Given the description of an element on the screen output the (x, y) to click on. 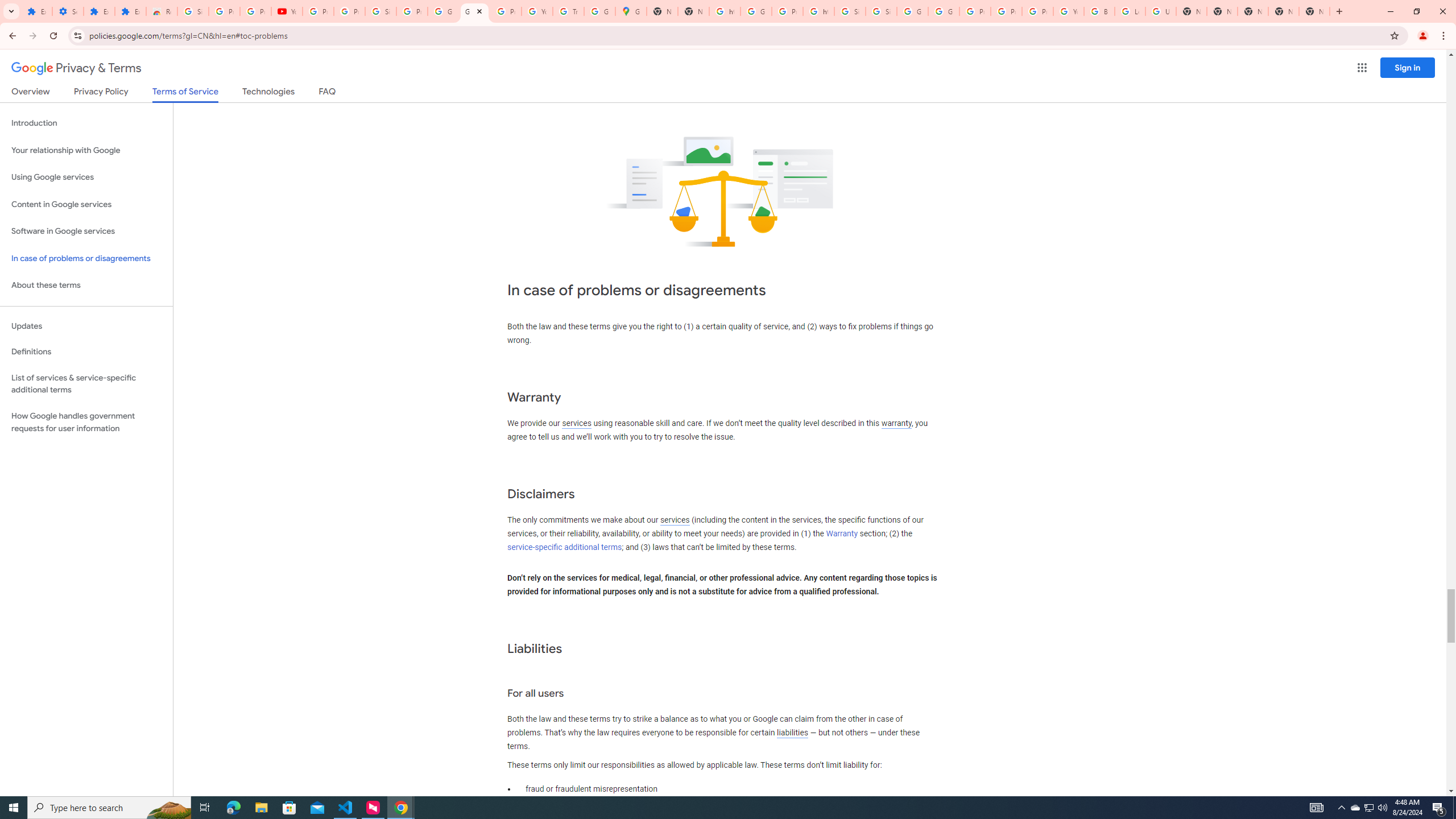
New Tab (1314, 11)
Privacy Help Center - Policies Help (1005, 11)
warranty (895, 423)
Using Google services (86, 176)
Software in Google services (86, 230)
Extensions (36, 11)
About these terms (86, 284)
Sign in - Google Accounts (881, 11)
